Given the description of an element on the screen output the (x, y) to click on. 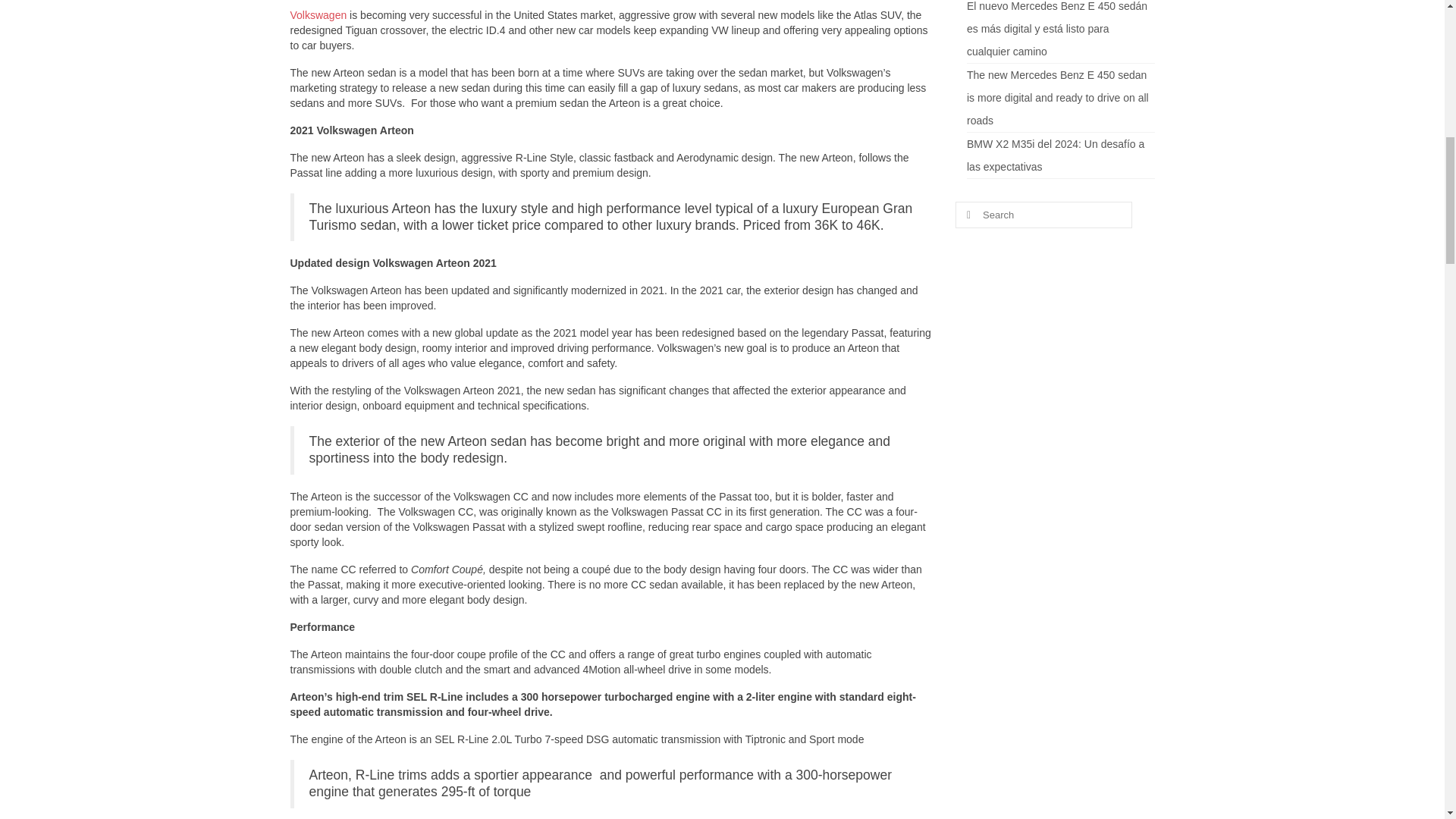
Volkswagen (317, 15)
